Given the description of an element on the screen output the (x, y) to click on. 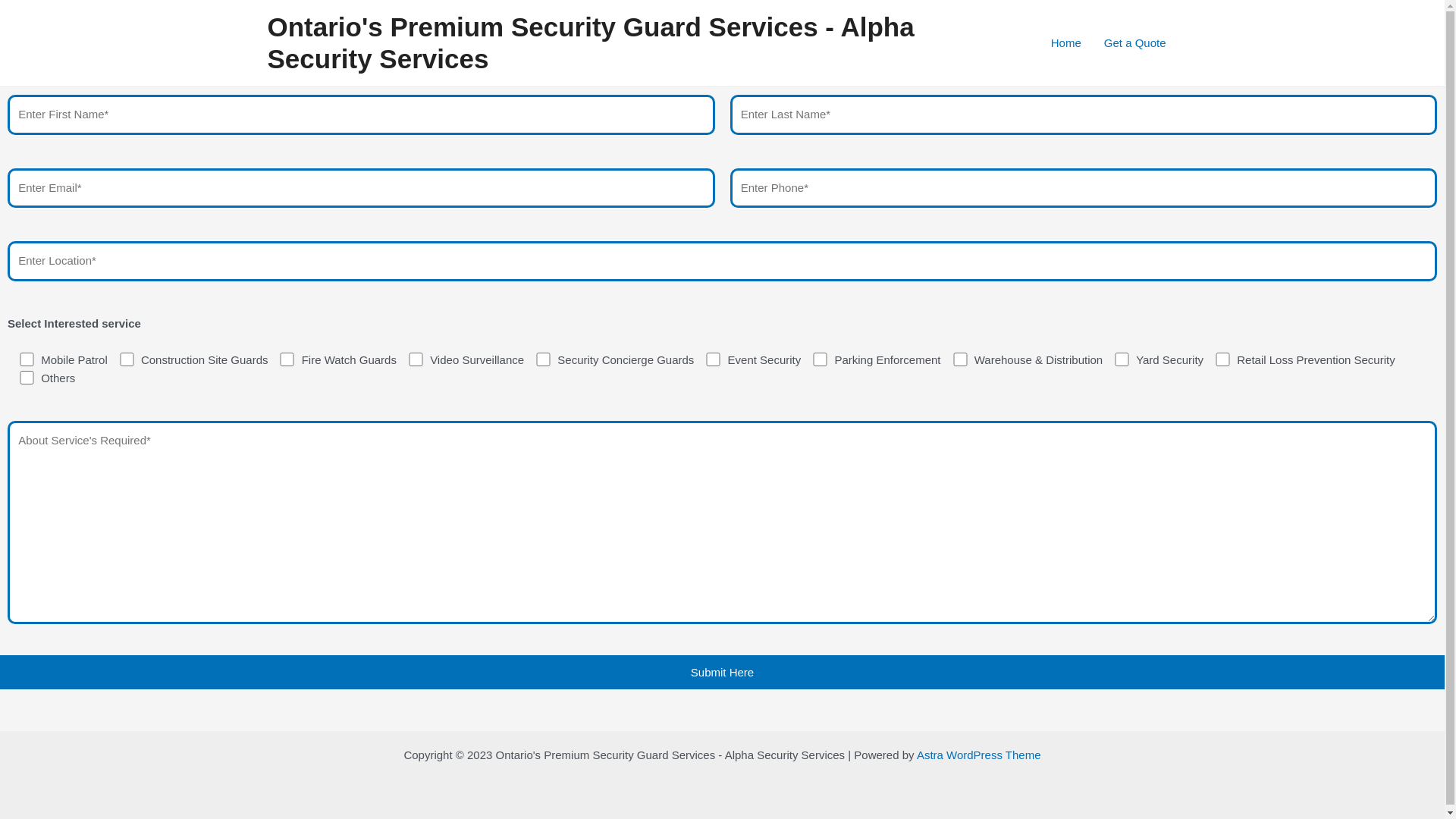
Astra WordPress Theme Element type: text (978, 754)
Submit Here Element type: text (722, 672)
Home Element type: text (1065, 42)
Get a Quote Element type: text (1134, 42)
